Given the description of an element on the screen output the (x, y) to click on. 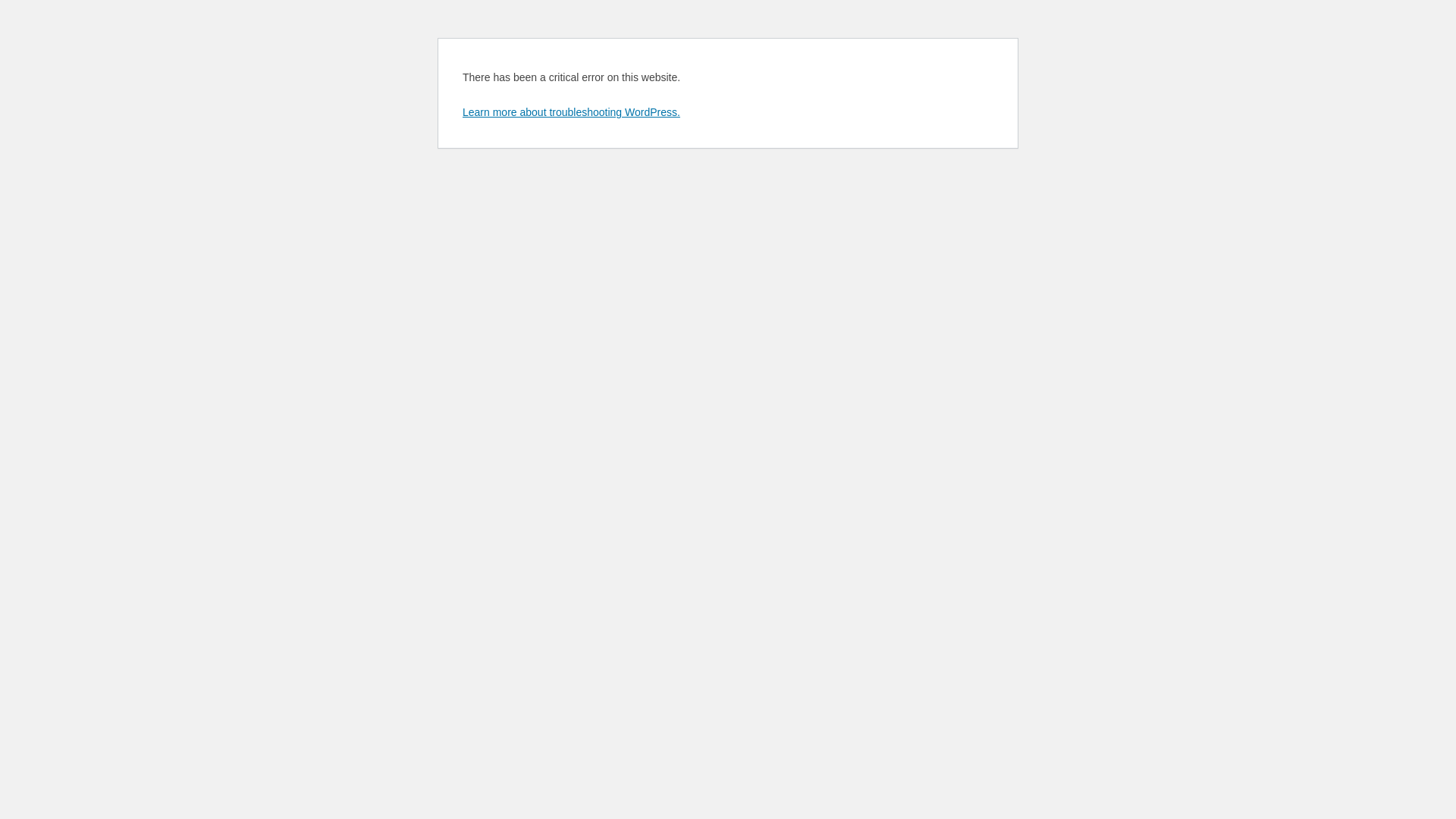
Learn more about troubleshooting WordPress. Element type: text (571, 112)
